Given the description of an element on the screen output the (x, y) to click on. 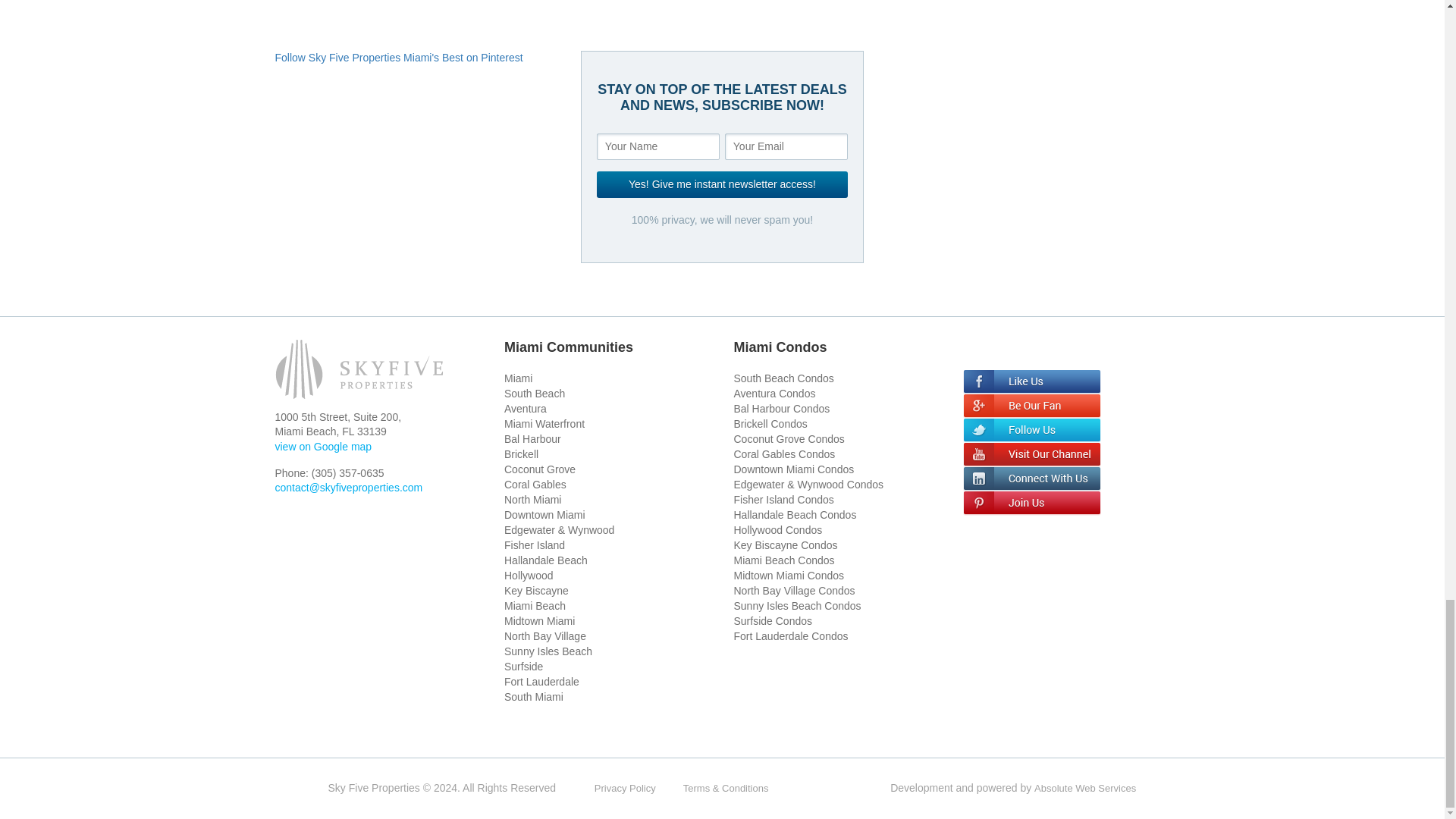
Yes! Give me instant newsletter access! (721, 184)
Absolute Web Services (1084, 787)
